Given the description of an element on the screen output the (x, y) to click on. 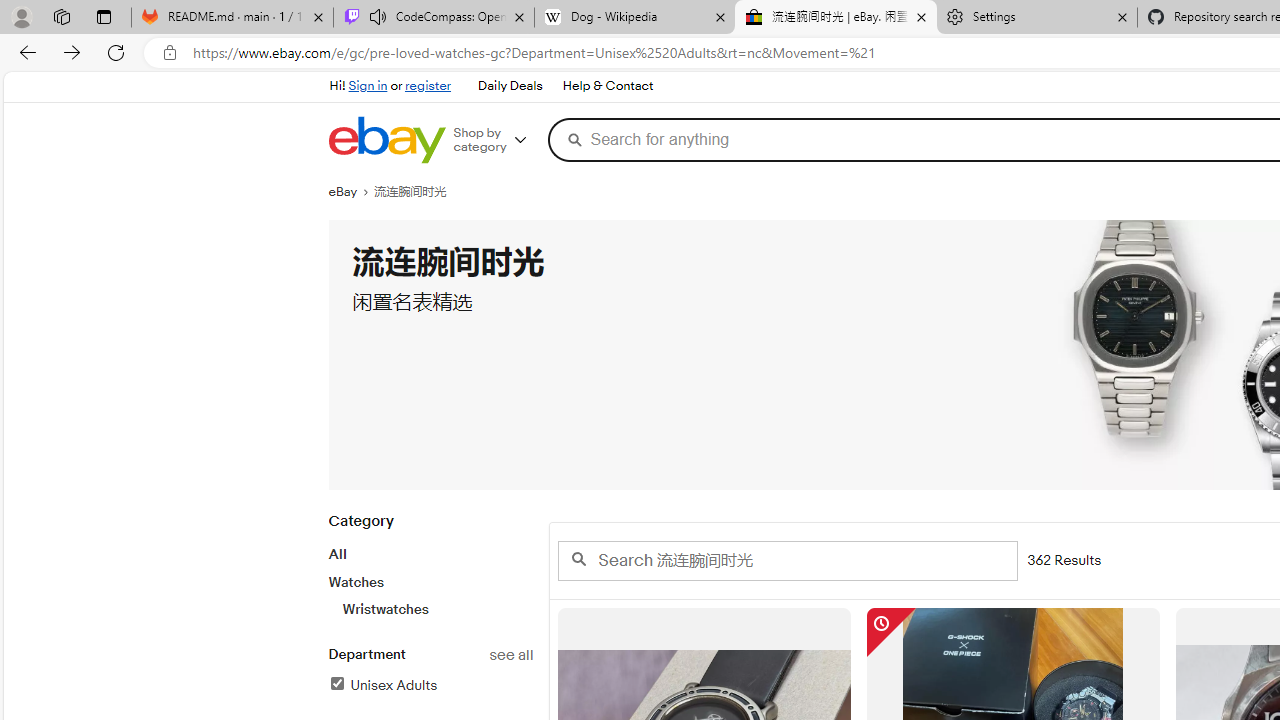
Shop by category (496, 140)
Enter your search keyword (786, 560)
Help & Contact (606, 85)
Unisex Adults Filter Applied (381, 685)
eBay (351, 192)
AllWatchesWristwatches (430, 581)
All (336, 554)
Sign in (367, 85)
